Given the description of an element on the screen output the (x, y) to click on. 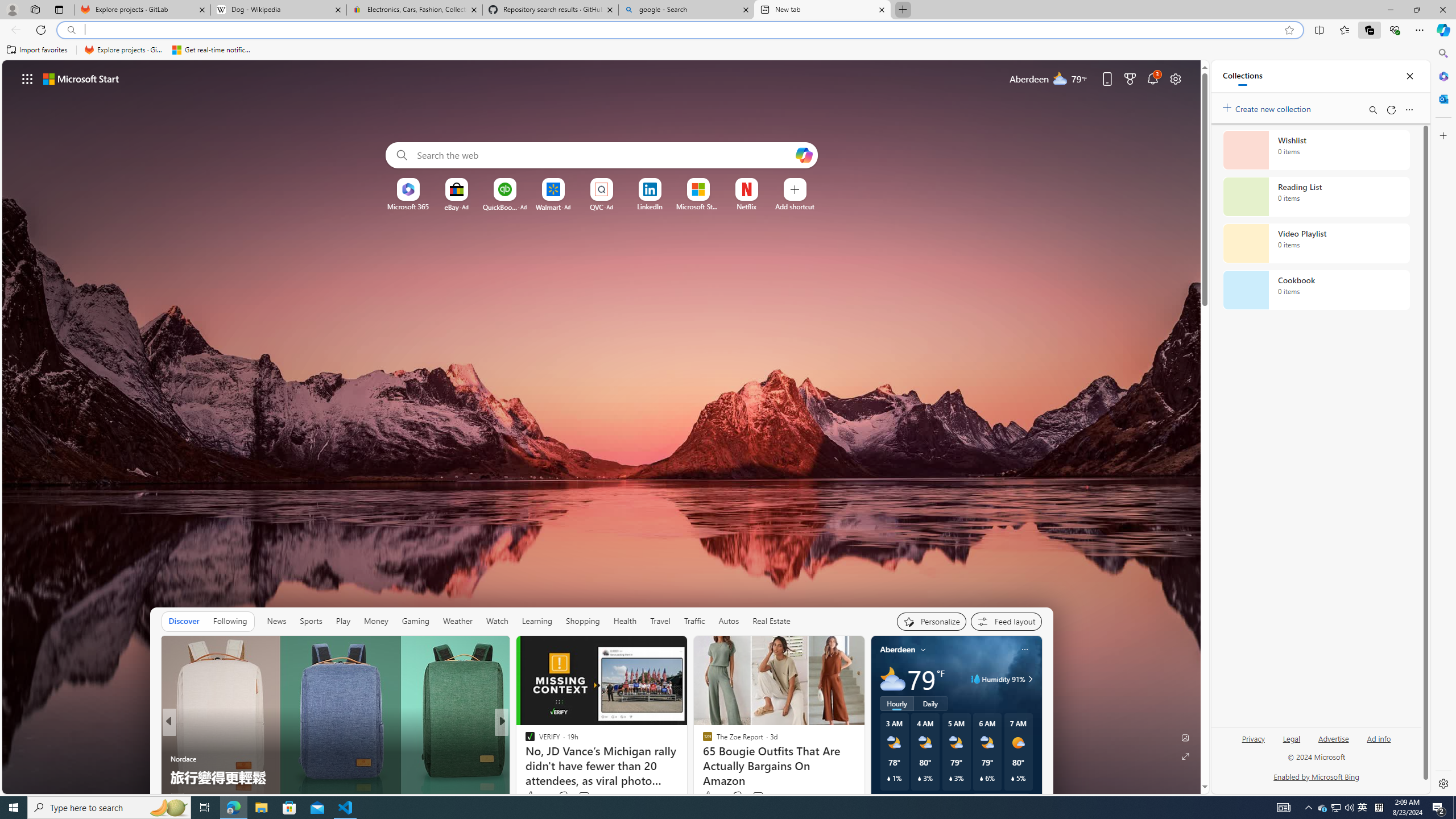
Work From Home With Surveys (684, 777)
141 Like (532, 796)
Play (342, 621)
View comments 23 Comment (585, 796)
Shopping (583, 621)
Autos (729, 621)
Steve Kornacki breaks down the road to 270 electoral votes (684, 767)
